Given the description of an element on the screen output the (x, y) to click on. 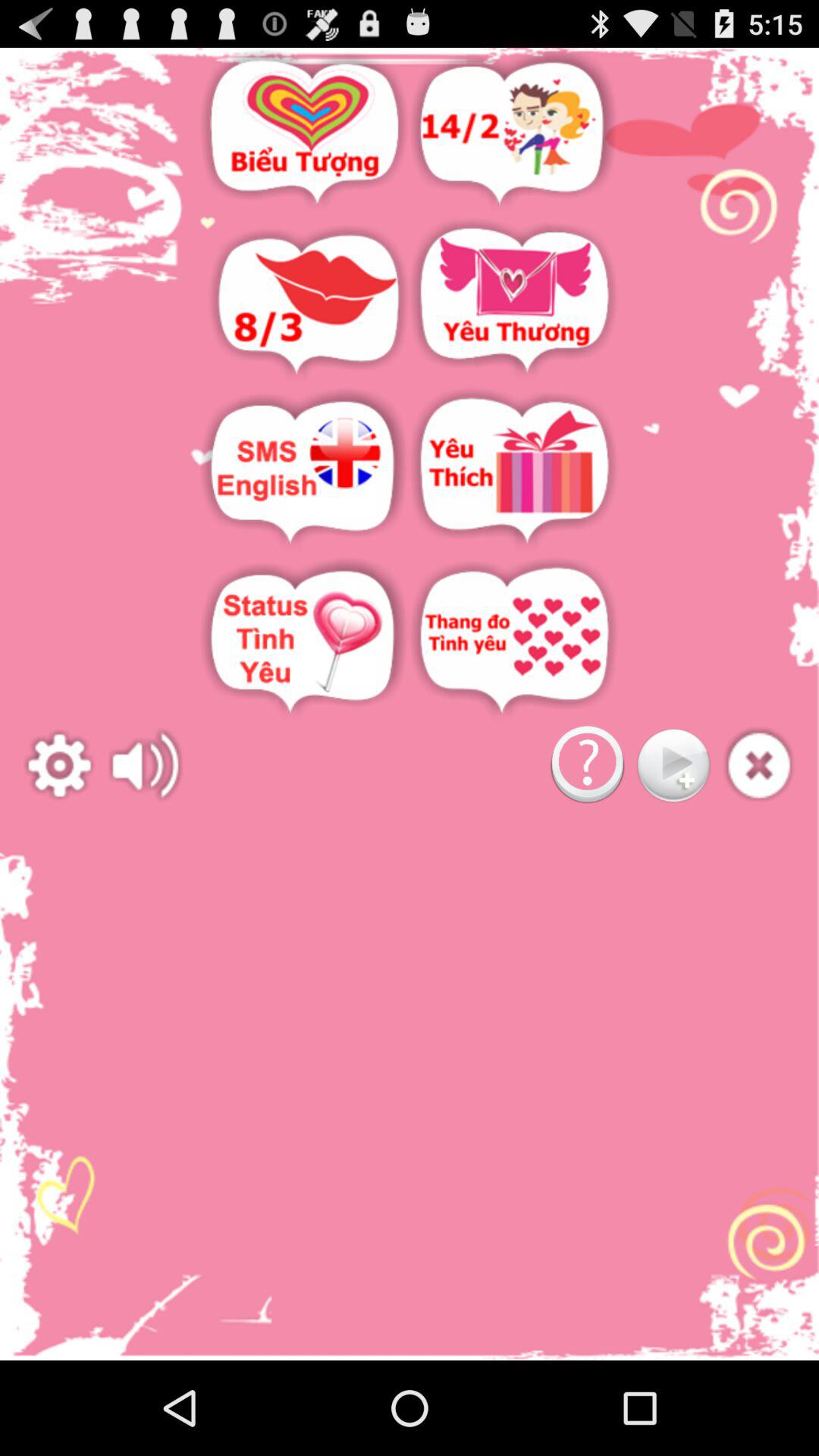
go play (673, 765)
